Given the description of an element on the screen output the (x, y) to click on. 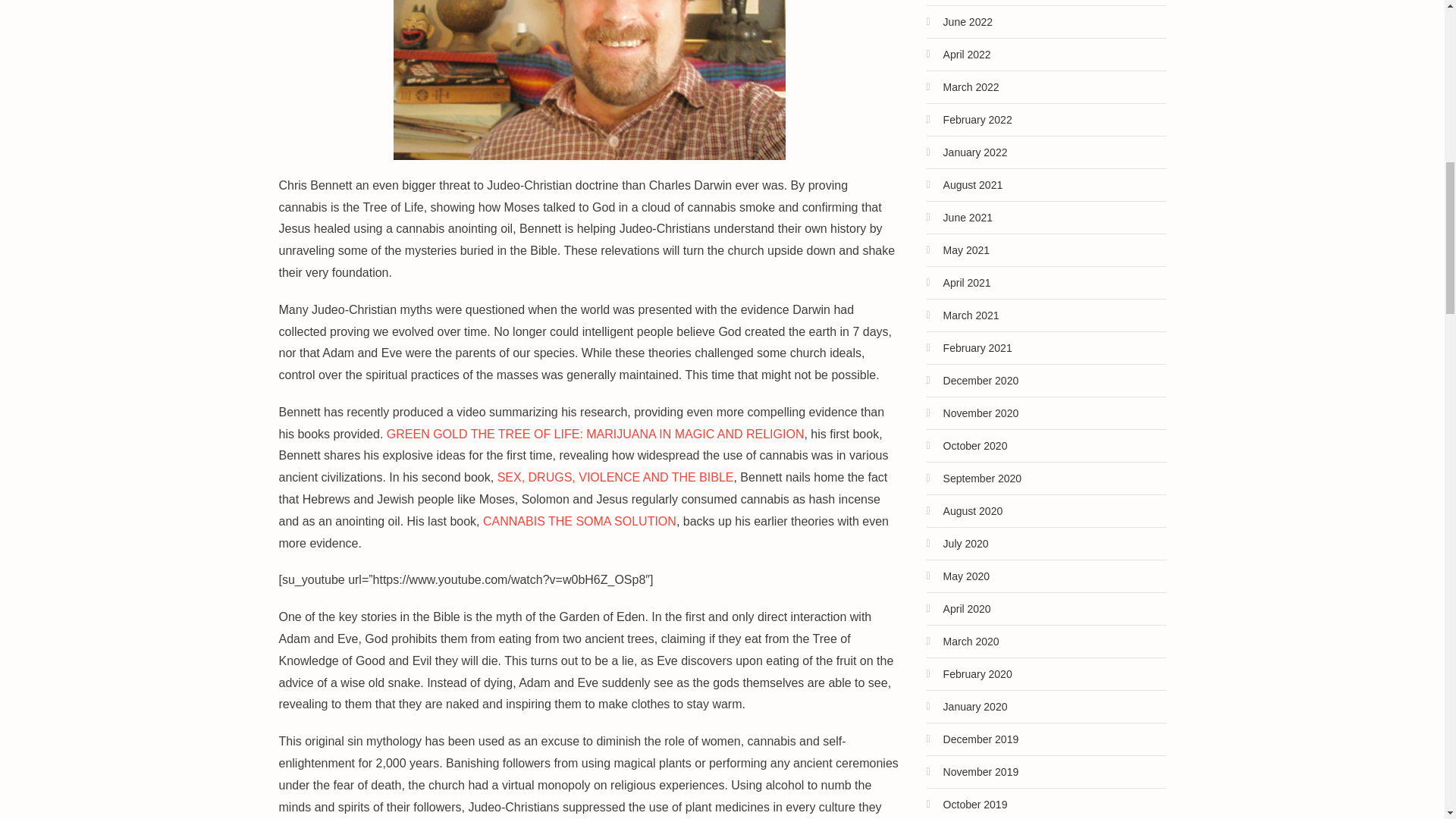
SEX, DRUGS, VIOLENCE AND THE BIBLE (615, 477)
CANNABIS THE SOMA SOLUTION (580, 521)
GREEN GOLD THE TREE OF LIFE: MARIJUANA IN MAGIC AND RELIGION (596, 433)
